Given the description of an element on the screen output the (x, y) to click on. 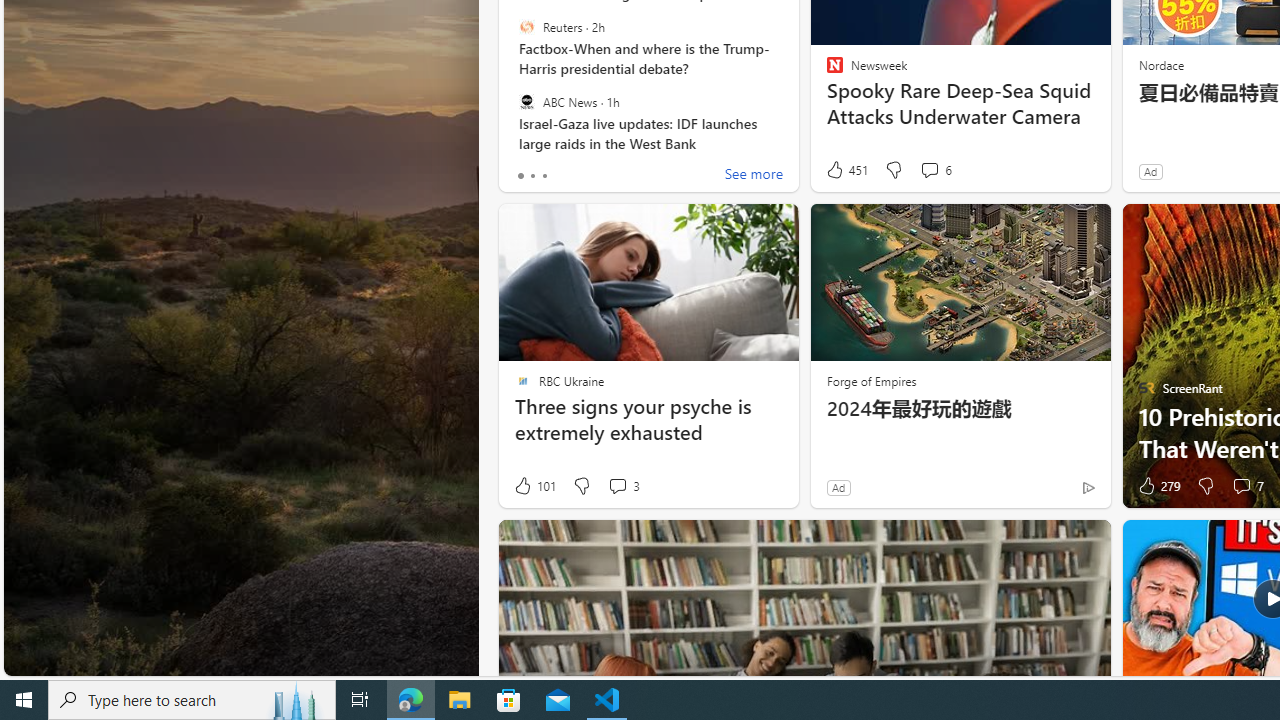
View comments 3 Comment (617, 485)
View comments 3 Comment (623, 485)
View comments 7 Comment (1247, 485)
View comments 6 Comment (935, 170)
279 Like (1157, 485)
tab-1 (532, 175)
Forge of Empires (870, 380)
451 Like (845, 170)
